Given the description of an element on the screen output the (x, y) to click on. 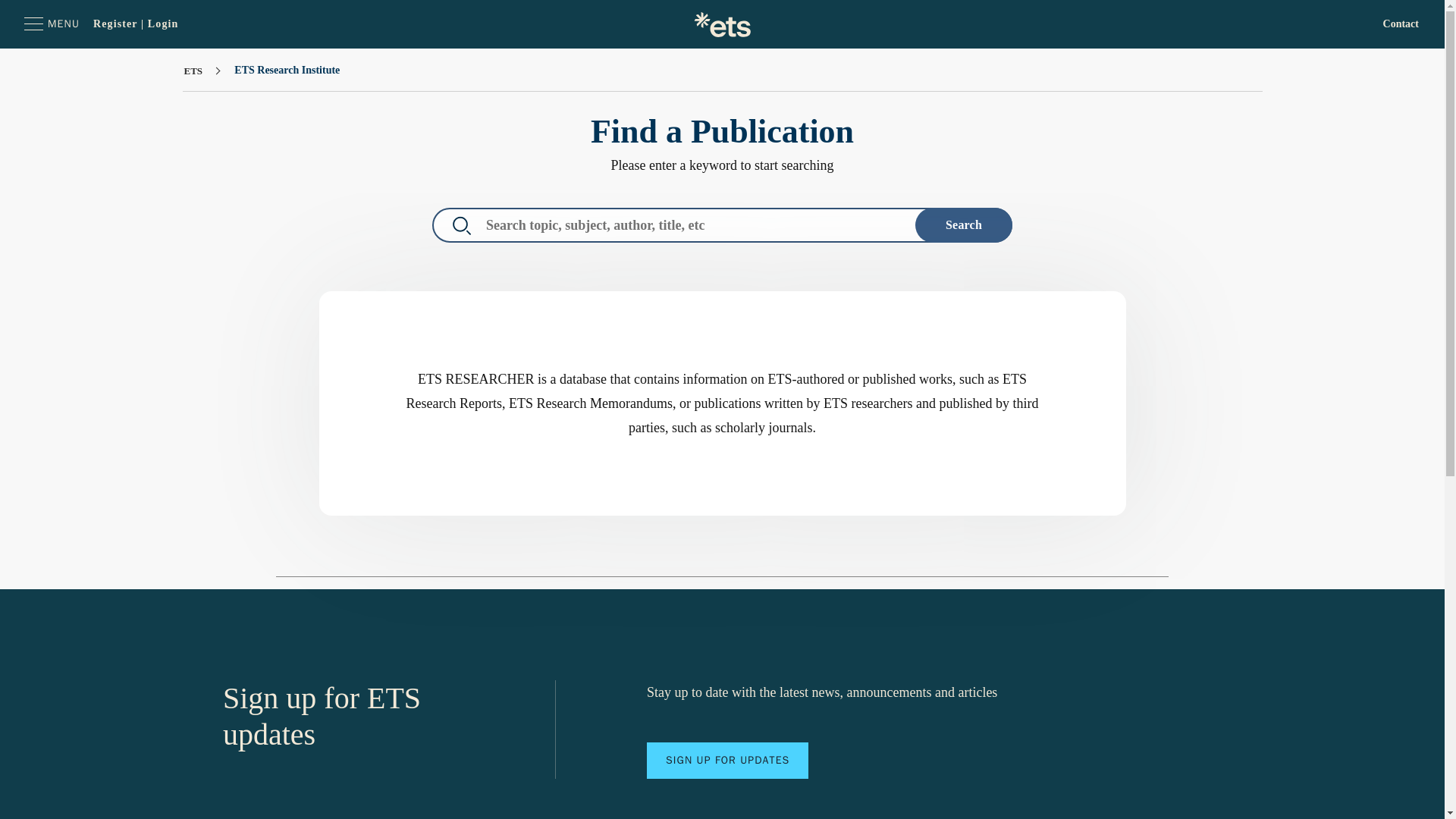
MENU (52, 24)
Contact (1401, 24)
ETS Research Institute (286, 69)
ETS (194, 70)
SKIP TO MAIN CONTENT (30, 23)
